Given the description of an element on the screen output the (x, y) to click on. 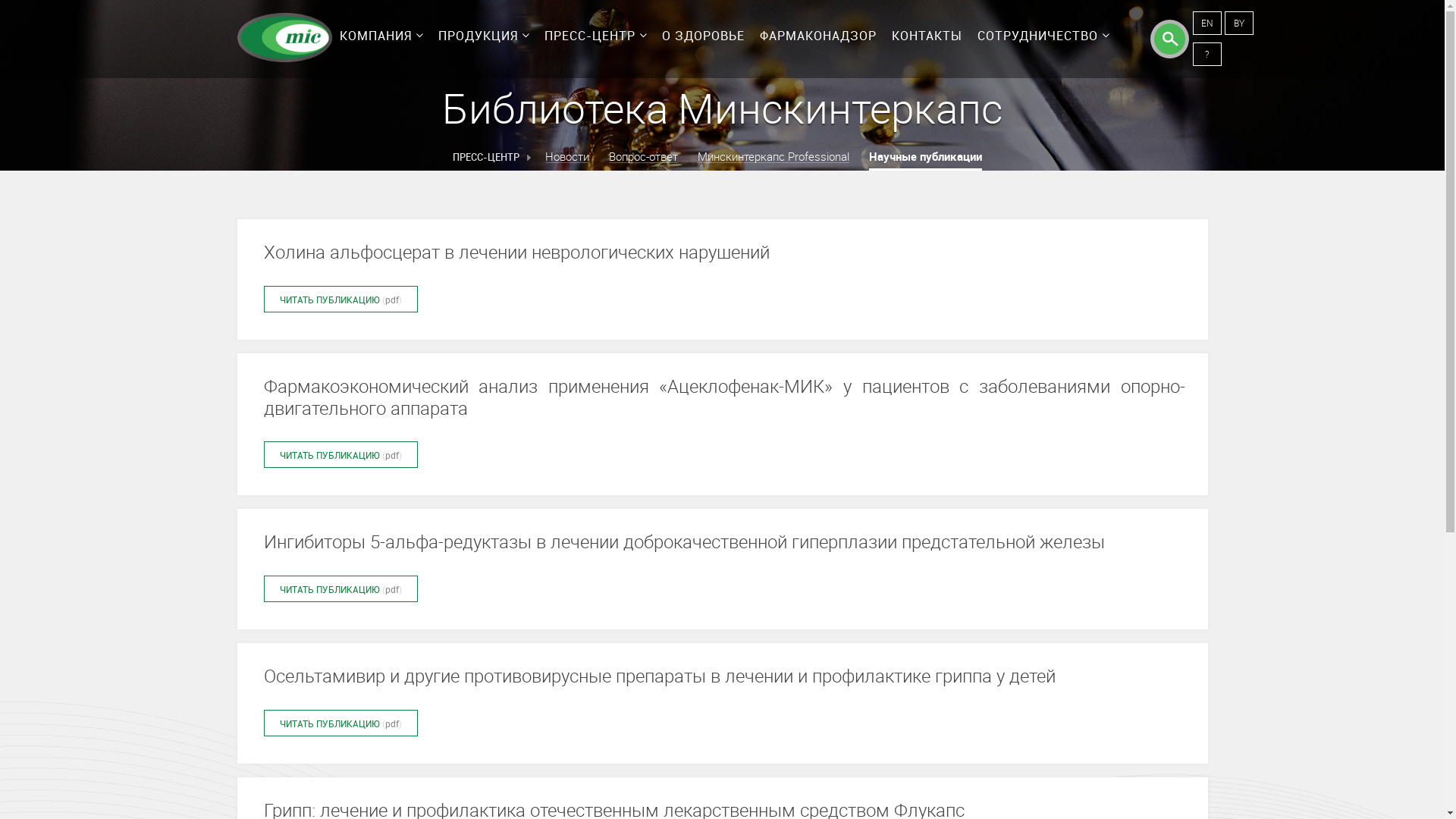
? Element type: text (1206, 53)
EN Element type: text (1206, 22)
BY Element type: text (1237, 22)
